Given the description of an element on the screen output the (x, y) to click on. 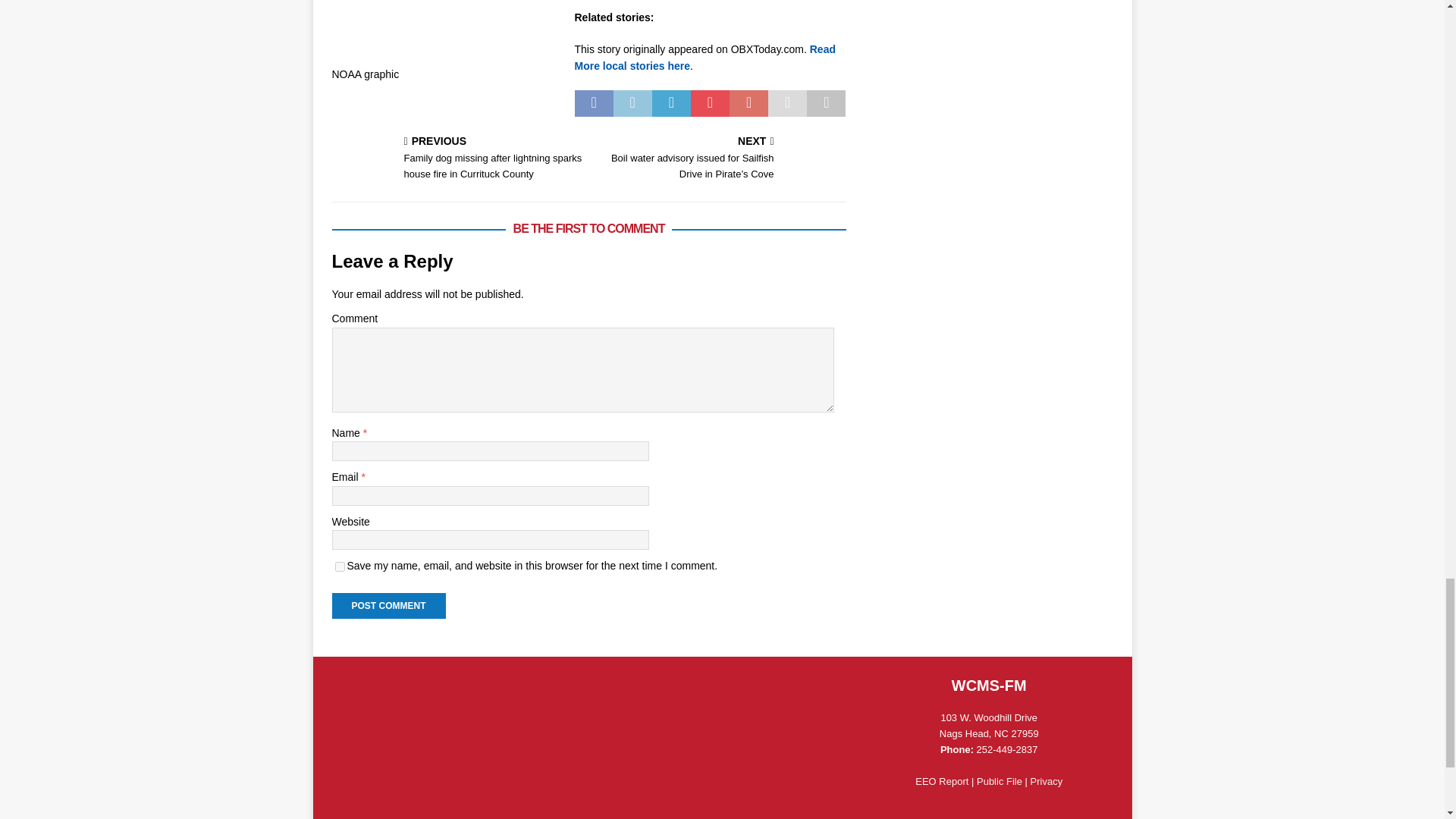
Post Comment (388, 605)
Post Comment (388, 605)
yes (339, 566)
Read More local stories here (705, 57)
